Given the description of an element on the screen output the (x, y) to click on. 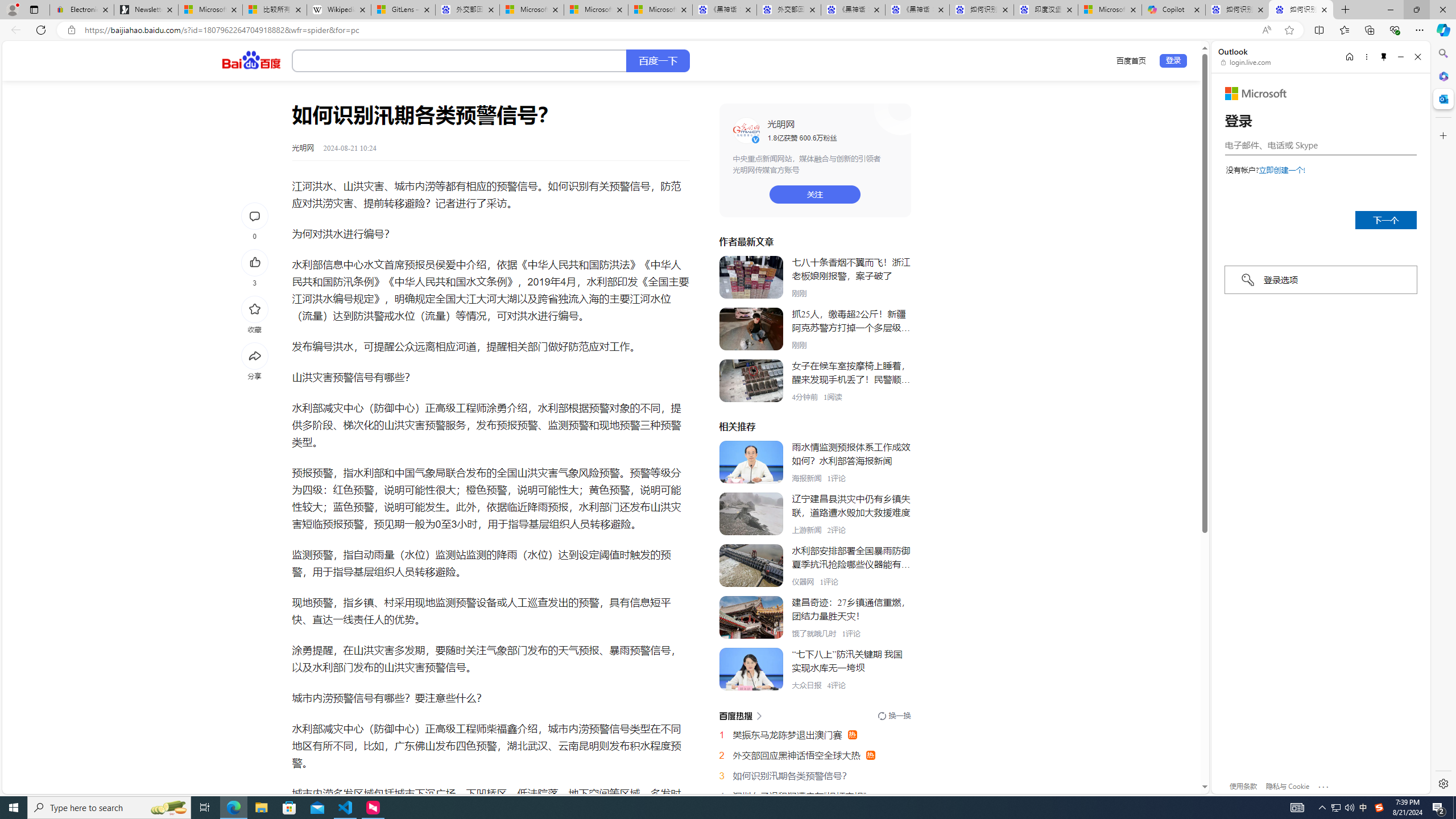
Class: YHR87 (740, 715)
Copilot (1173, 9)
Class: _2C4fV (459, 60)
login.live.com (1246, 61)
